Given the description of an element on the screen output the (x, y) to click on. 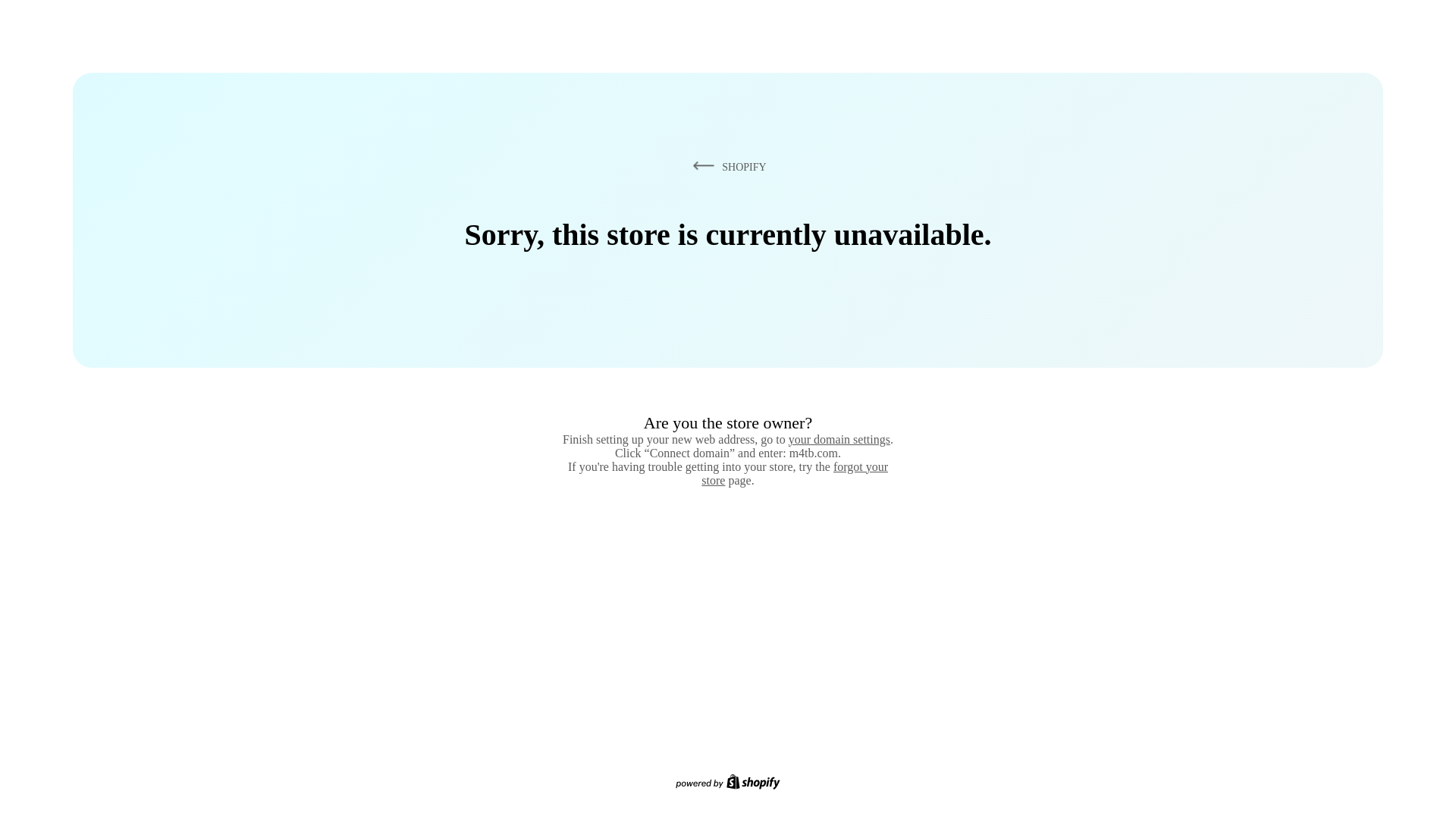
forgot your store (794, 473)
your domain settings (839, 439)
SHOPIFY (726, 166)
